Given the description of an element on the screen output the (x, y) to click on. 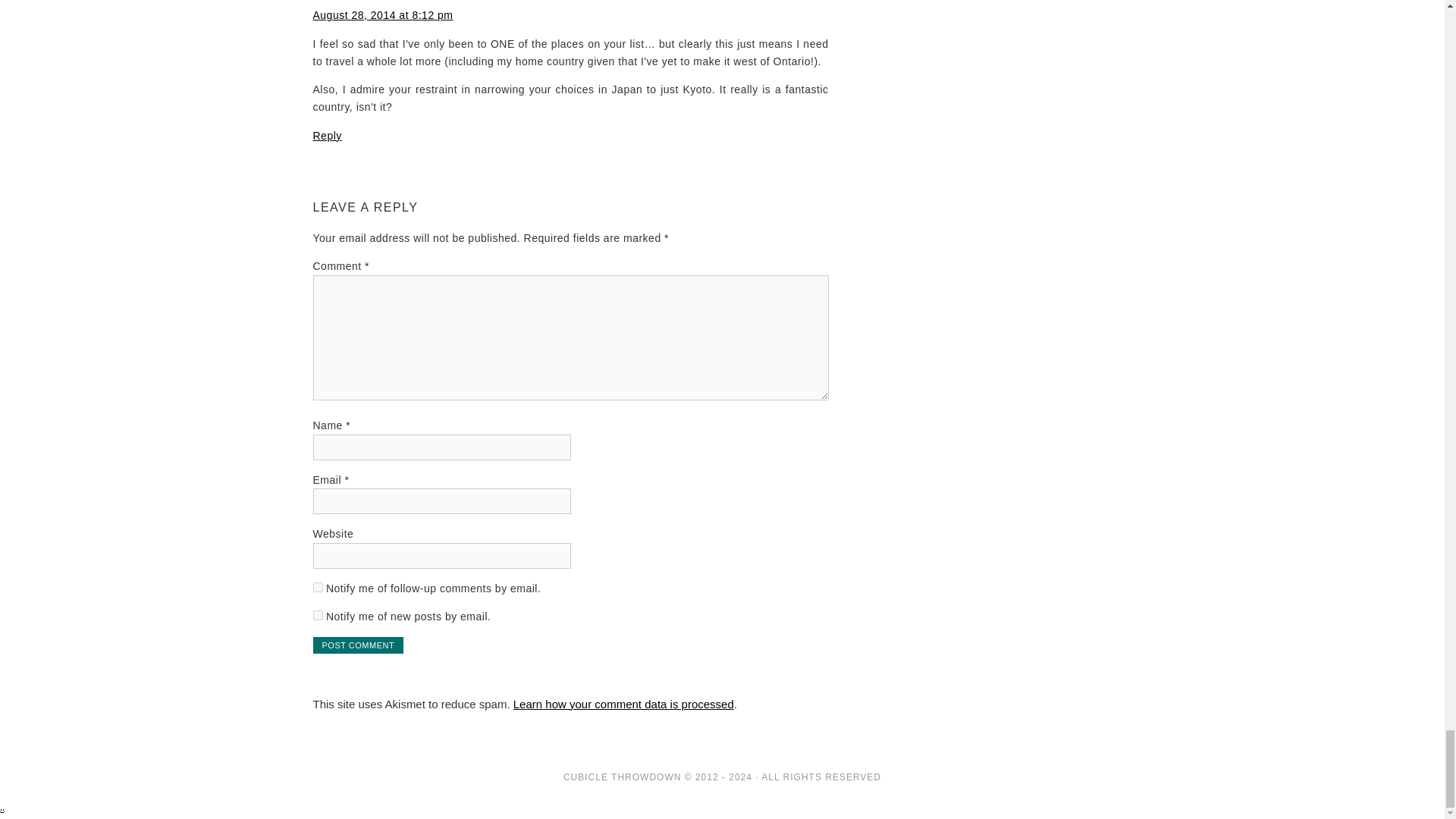
subscribe (317, 587)
Post Comment (358, 645)
subscribe (317, 614)
